Given the description of an element on the screen output the (x, y) to click on. 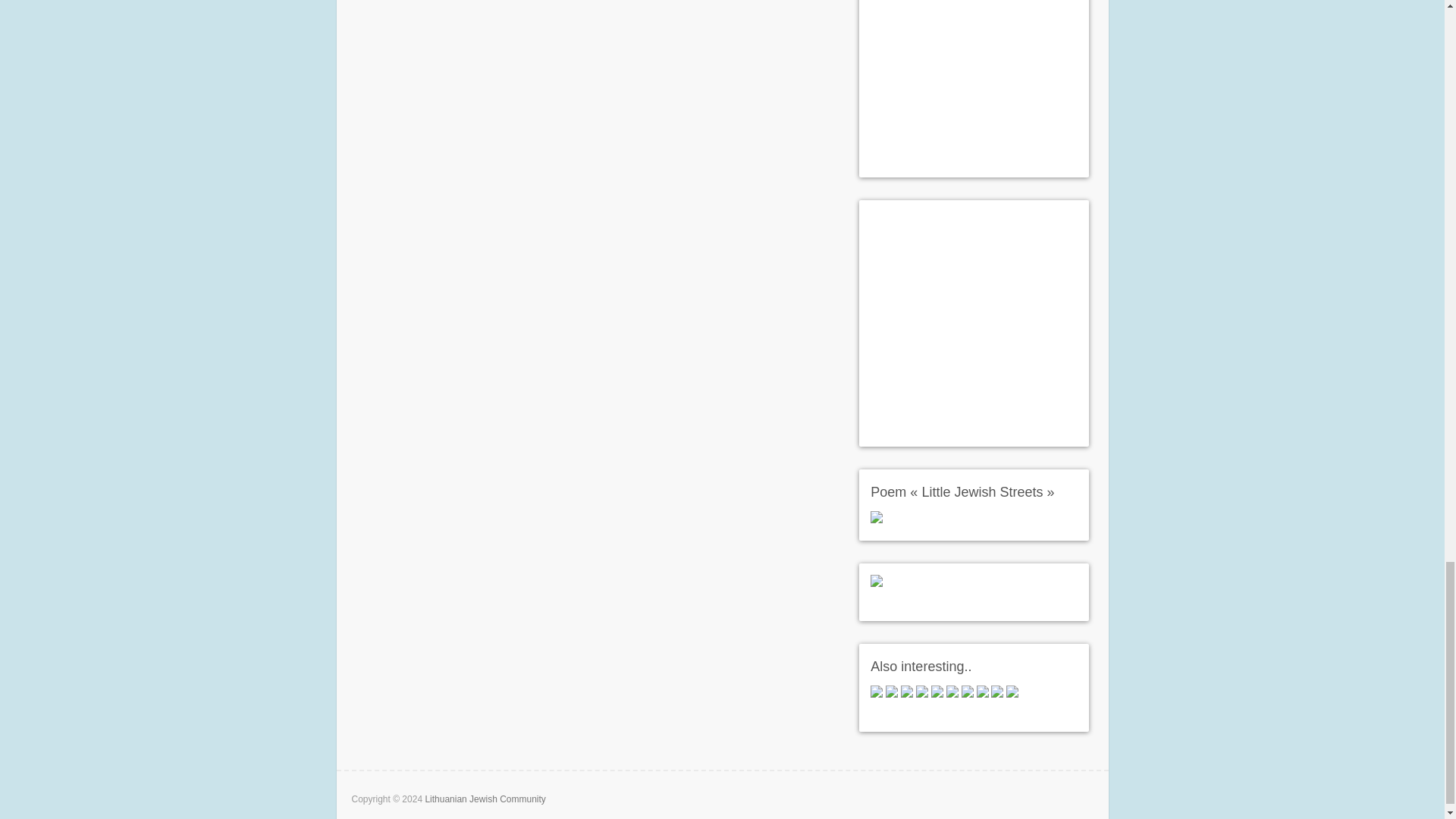
Lithuanian Jewish Community (484, 798)
